Given the description of an element on the screen output the (x, y) to click on. 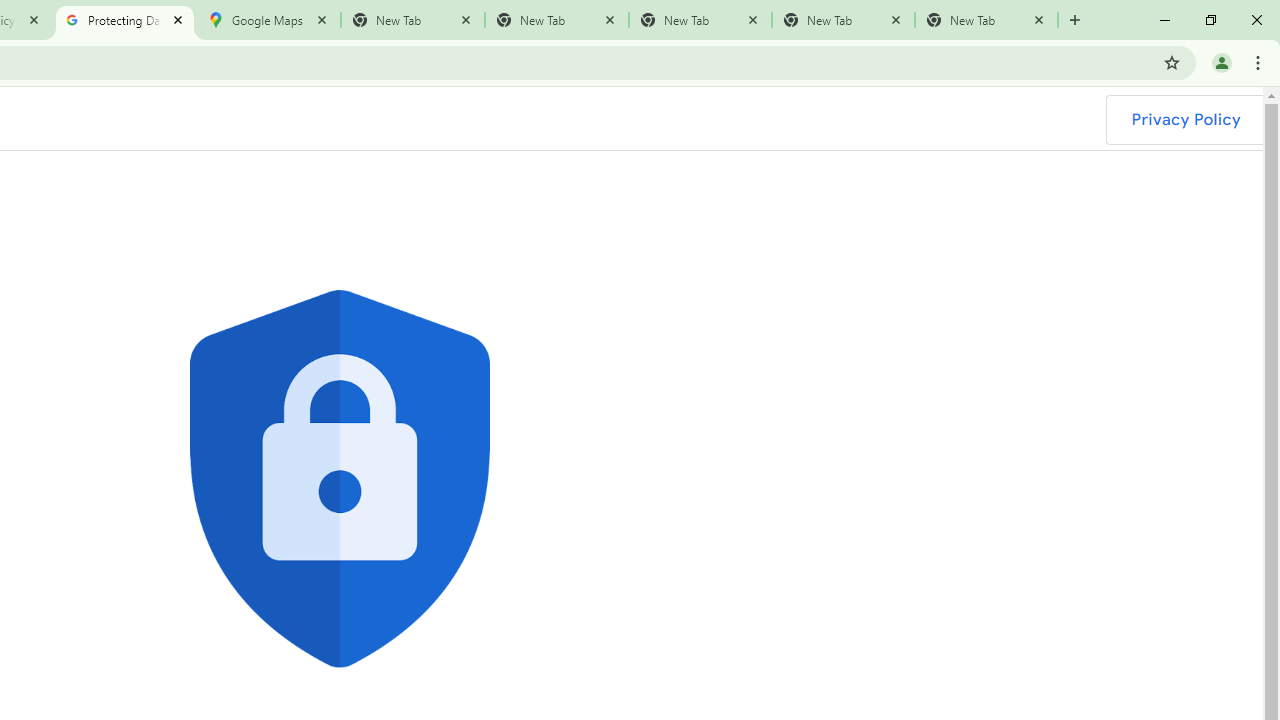
Blue shield with lock icon (339, 479)
New Tab (986, 20)
Privacy Policy (1185, 119)
Google Maps (268, 20)
